Given the description of an element on the screen output the (x, y) to click on. 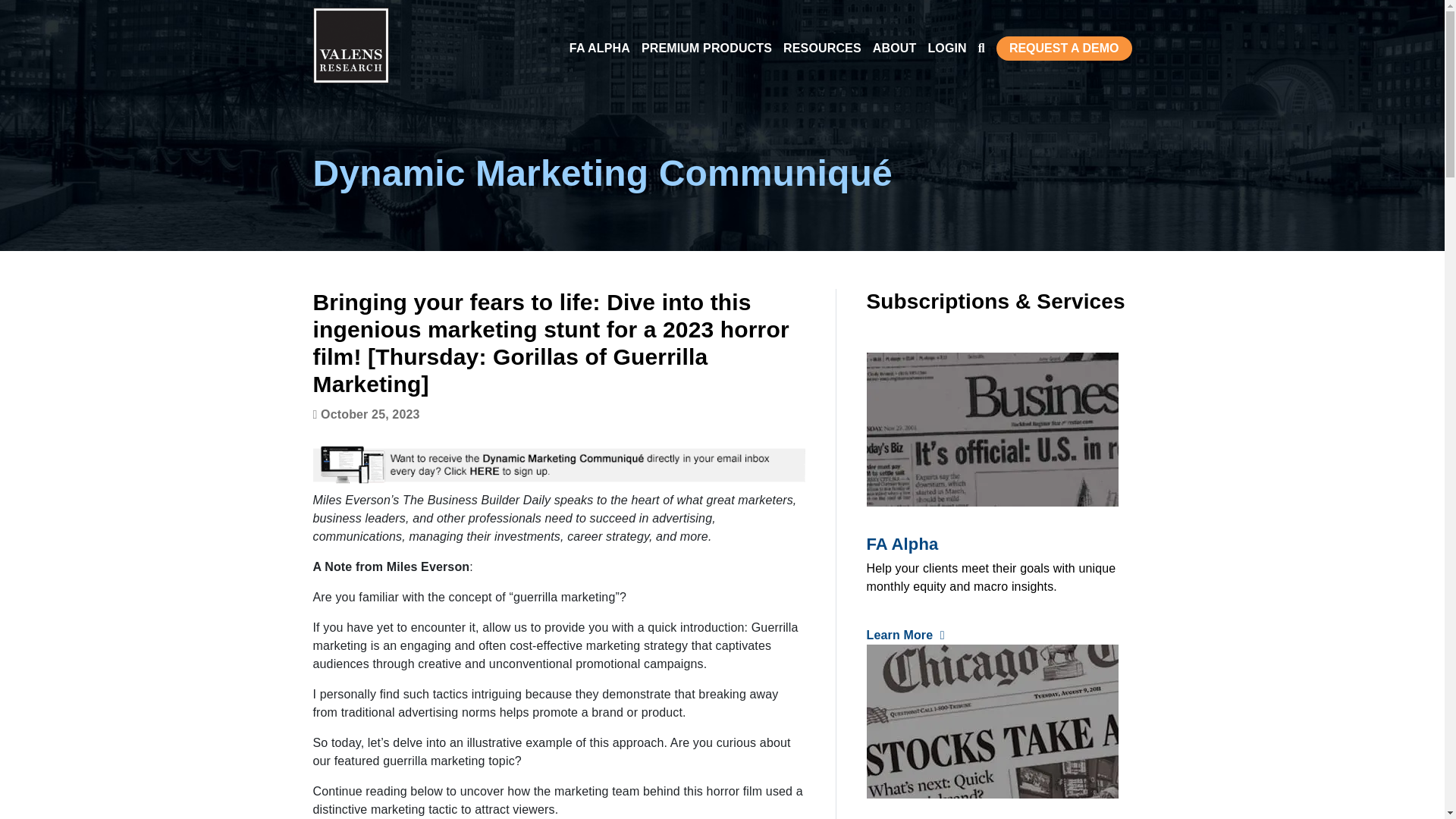
FA ALPHA (599, 47)
REQUEST A DEMO (1063, 48)
PREMIUM PRODUCTS (706, 47)
ABOUT (894, 47)
LOGIN (946, 47)
RESOURCES (822, 47)
